Given the description of an element on the screen output the (x, y) to click on. 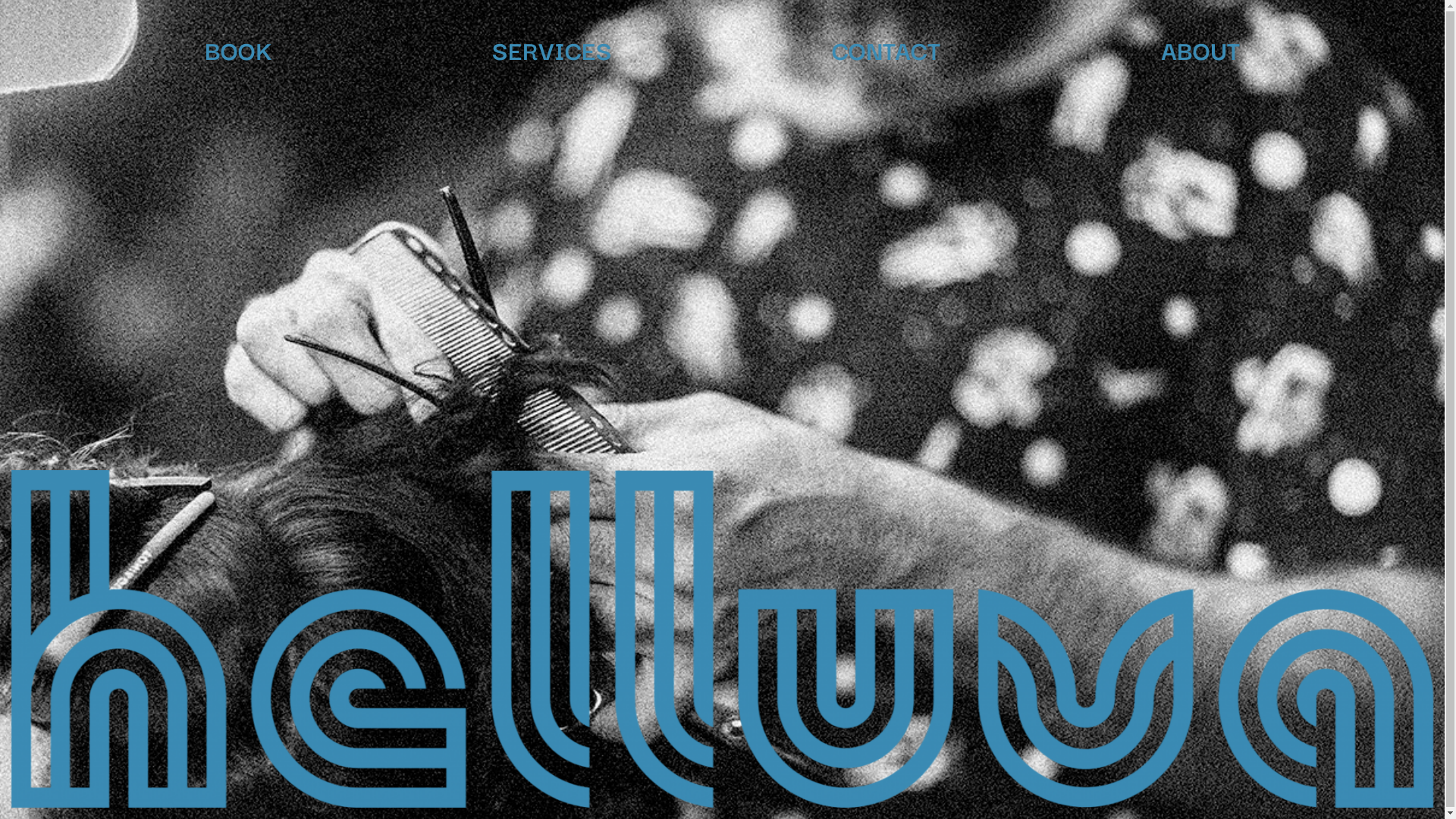
BOOK Element type: text (237, 48)
CONTACT Element type: text (885, 48)
SERVICES Element type: text (551, 48)
ABOUT Element type: text (1200, 48)
